Given the description of an element on the screen output the (x, y) to click on. 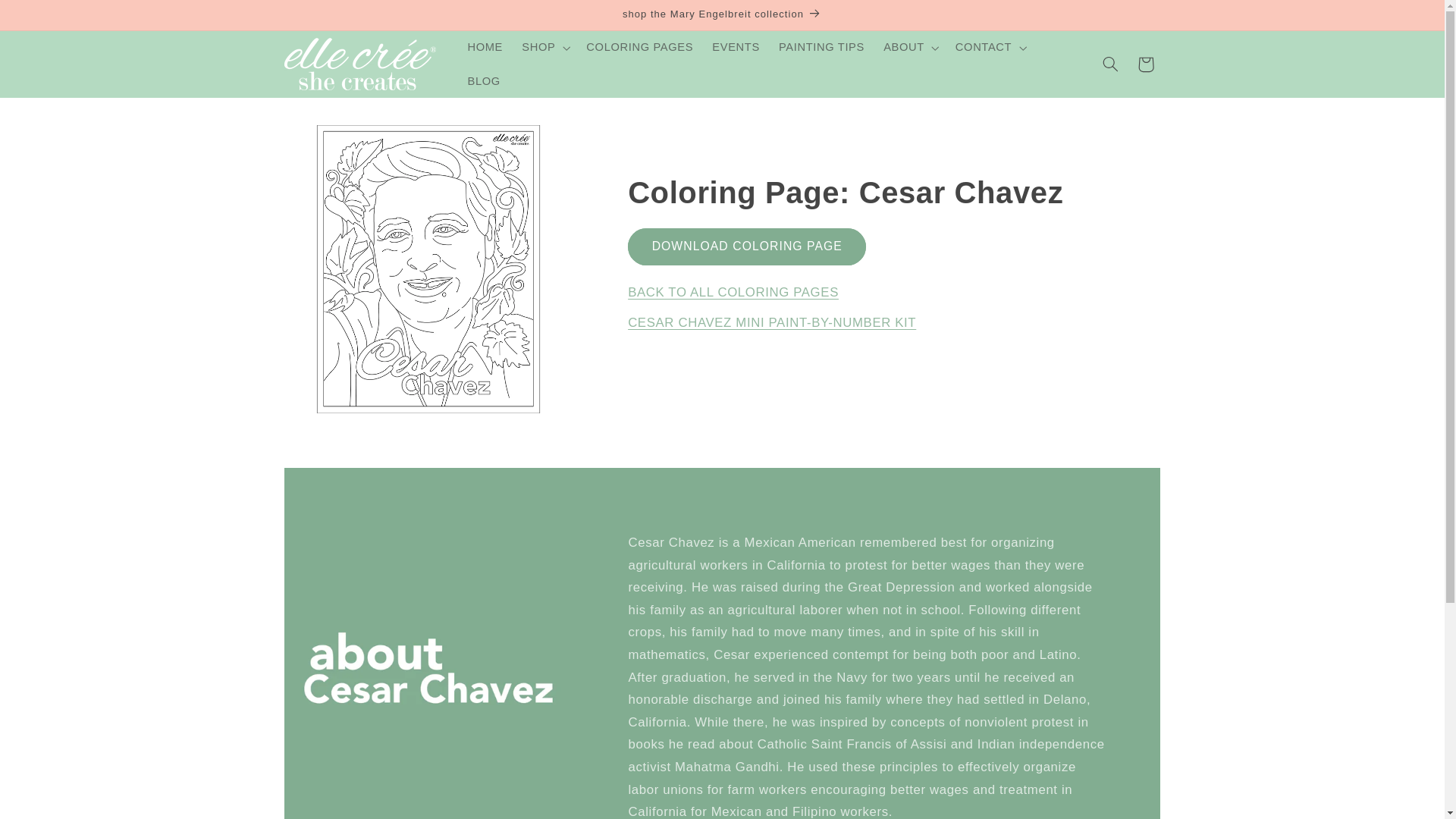
shop the Mary Engelbreit collection (721, 15)
HOME (485, 47)
Free Coloring Pages (732, 292)
Skip to content (48, 18)
